Given the description of an element on the screen output the (x, y) to click on. 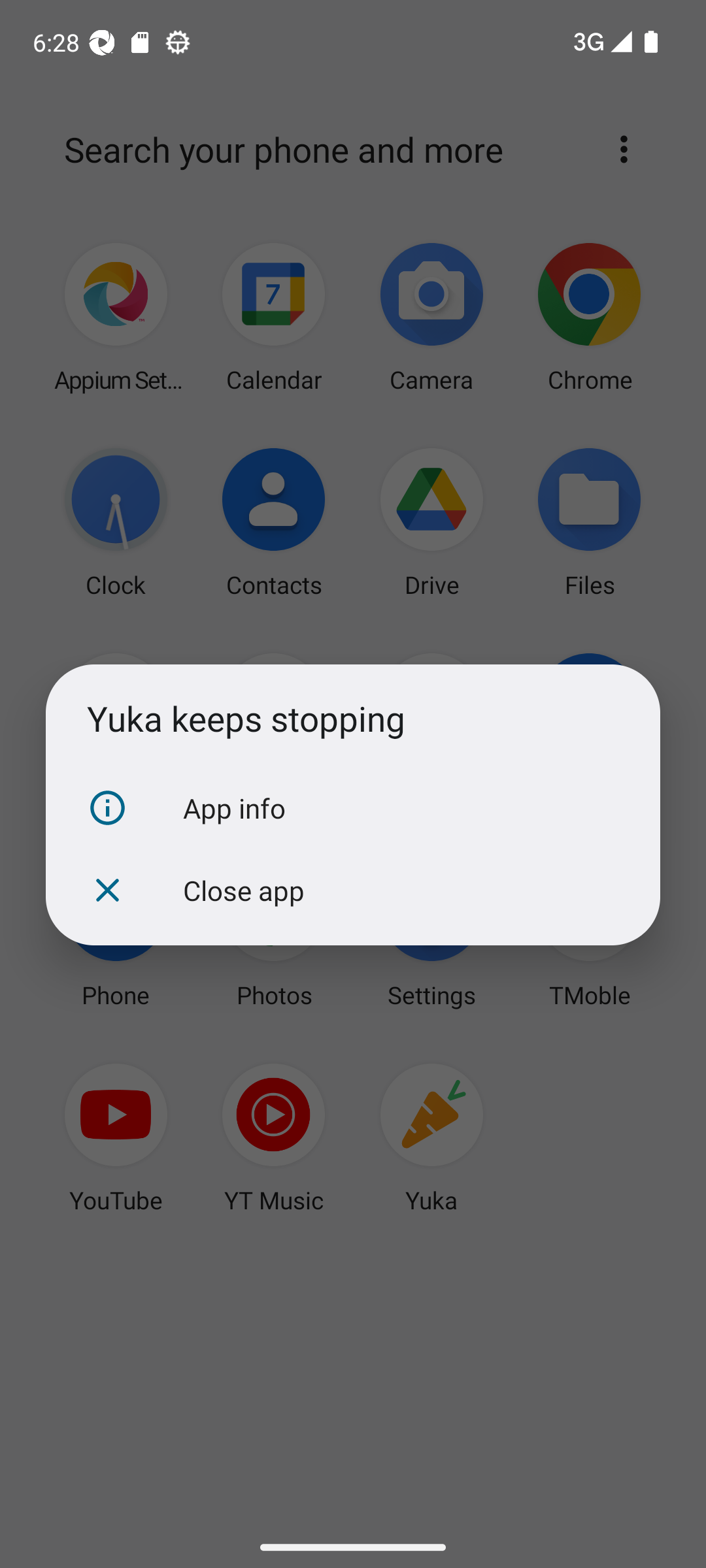
App info (352, 807)
Close app (352, 890)
